Given the description of an element on the screen output the (x, y) to click on. 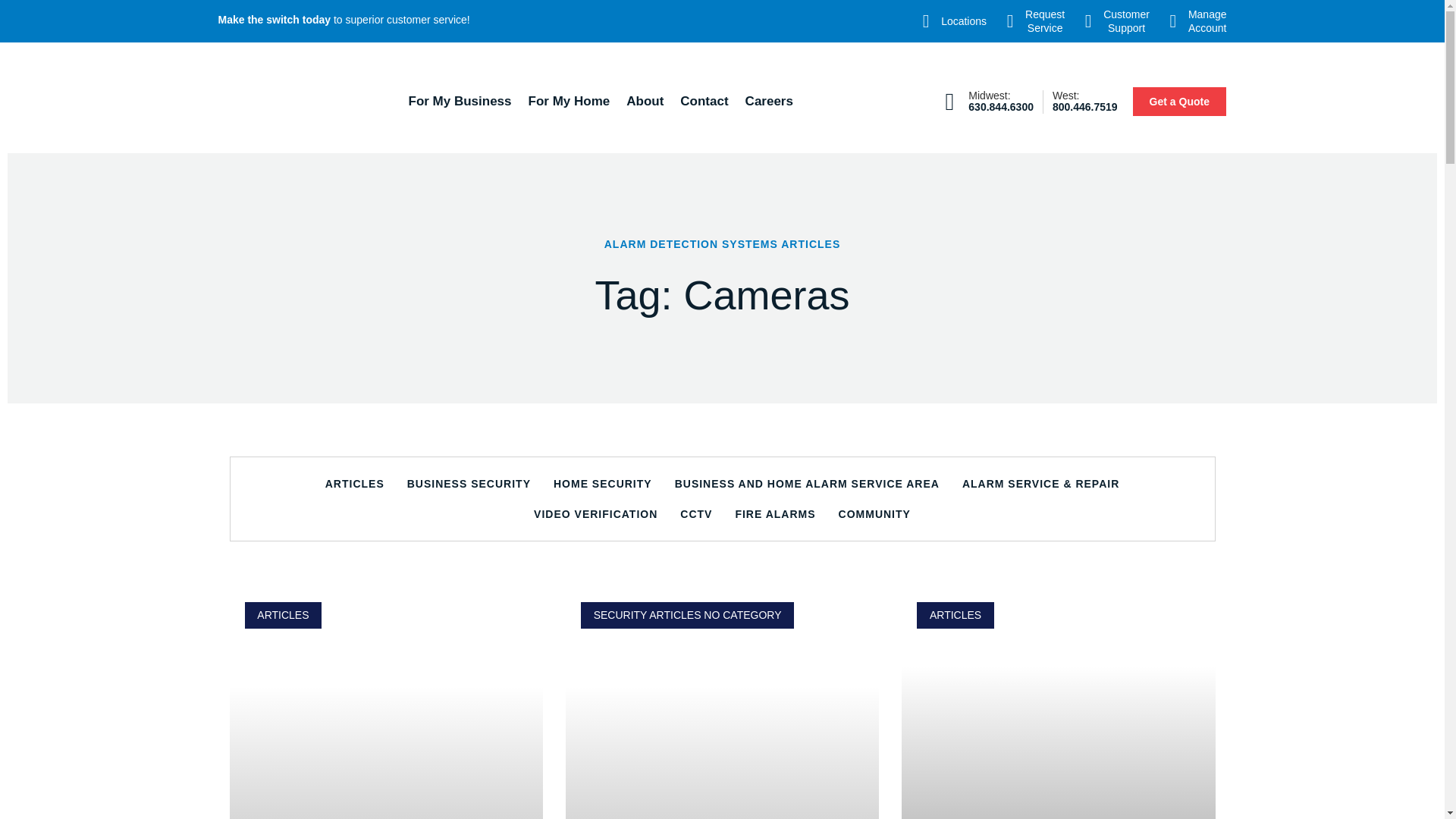
HOME SECURITY (602, 483)
800.446.7519 (1085, 107)
For My Business (459, 101)
Make the switch today to superior customer service! (344, 19)
For My Home (1031, 21)
Get a Quote (568, 101)
630.844.6300 (1178, 101)
Locations (1000, 107)
BUSINESS SECURITY (950, 21)
